Given the description of an element on the screen output the (x, y) to click on. 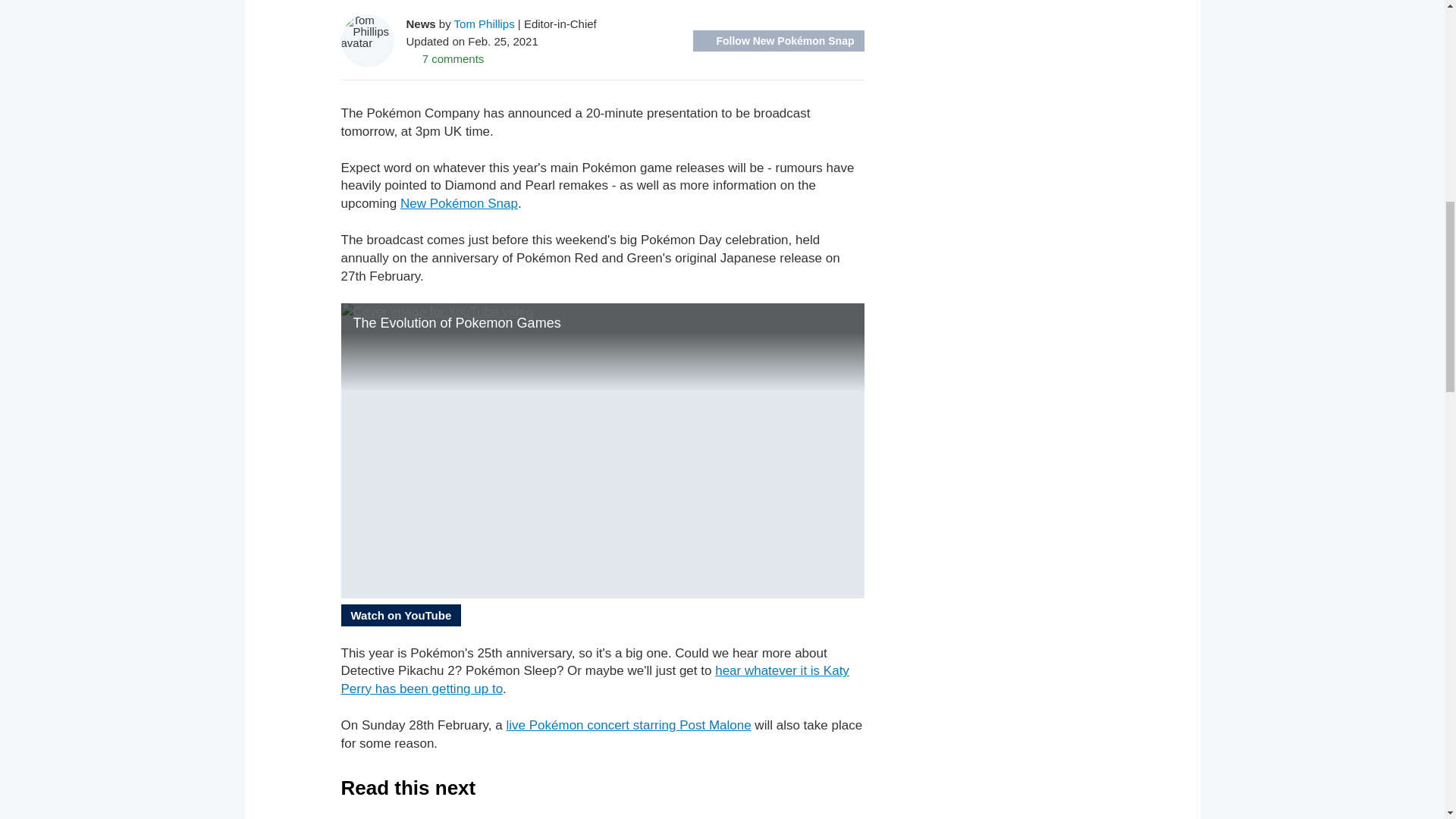
Tom Phillips (484, 22)
Watch on YouTube (400, 614)
hear whatever it is Katy Perry has been getting up to (594, 679)
7 comments (445, 57)
